Given the description of an element on the screen output the (x, y) to click on. 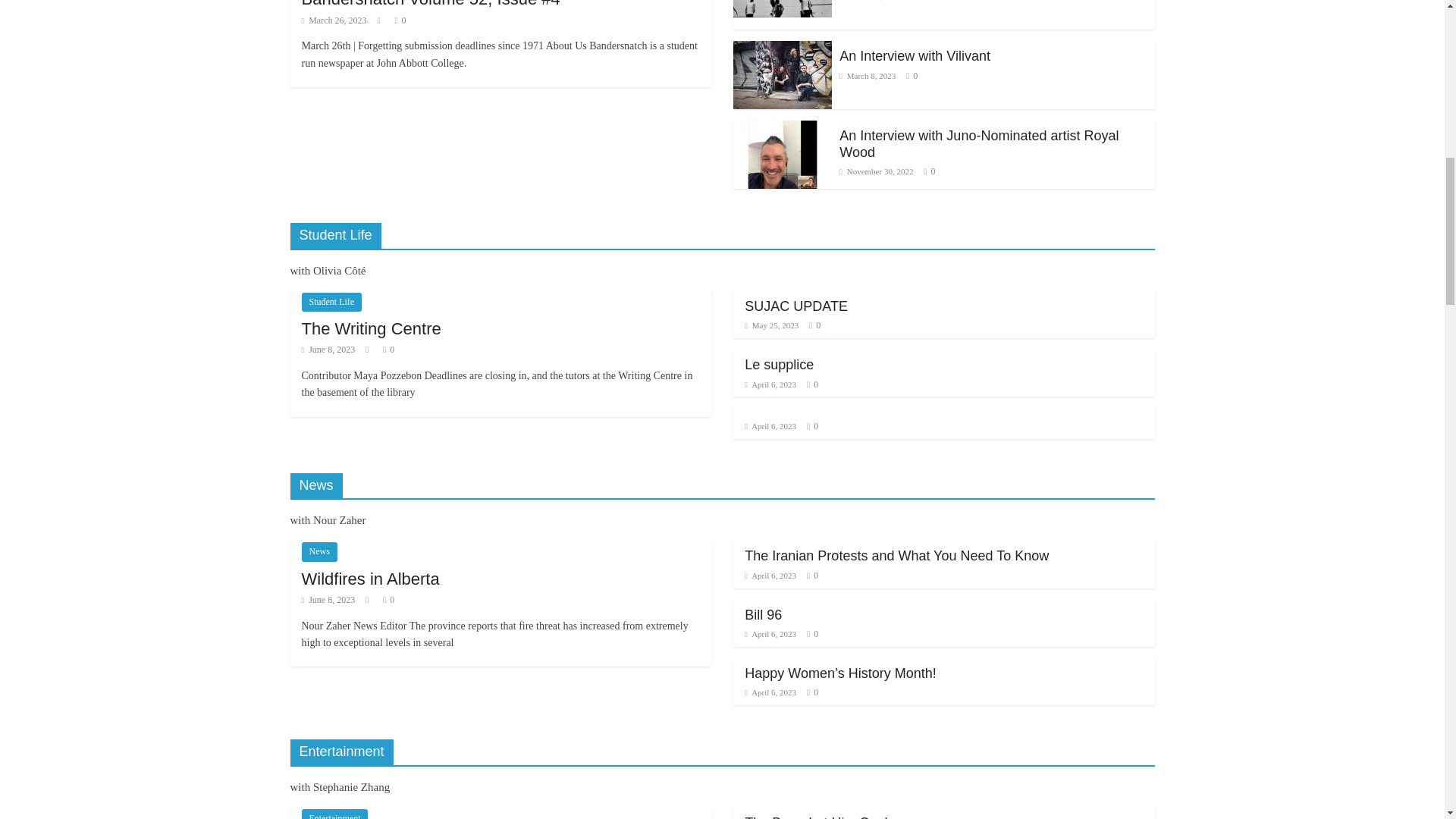
12:25 pm (869, 0)
An Interview with Vilivant (782, 50)
An Interview with Vilivant (915, 55)
An Interview with Vilivant (782, 74)
8:30 am (333, 20)
